Given the description of an element on the screen output the (x, y) to click on. 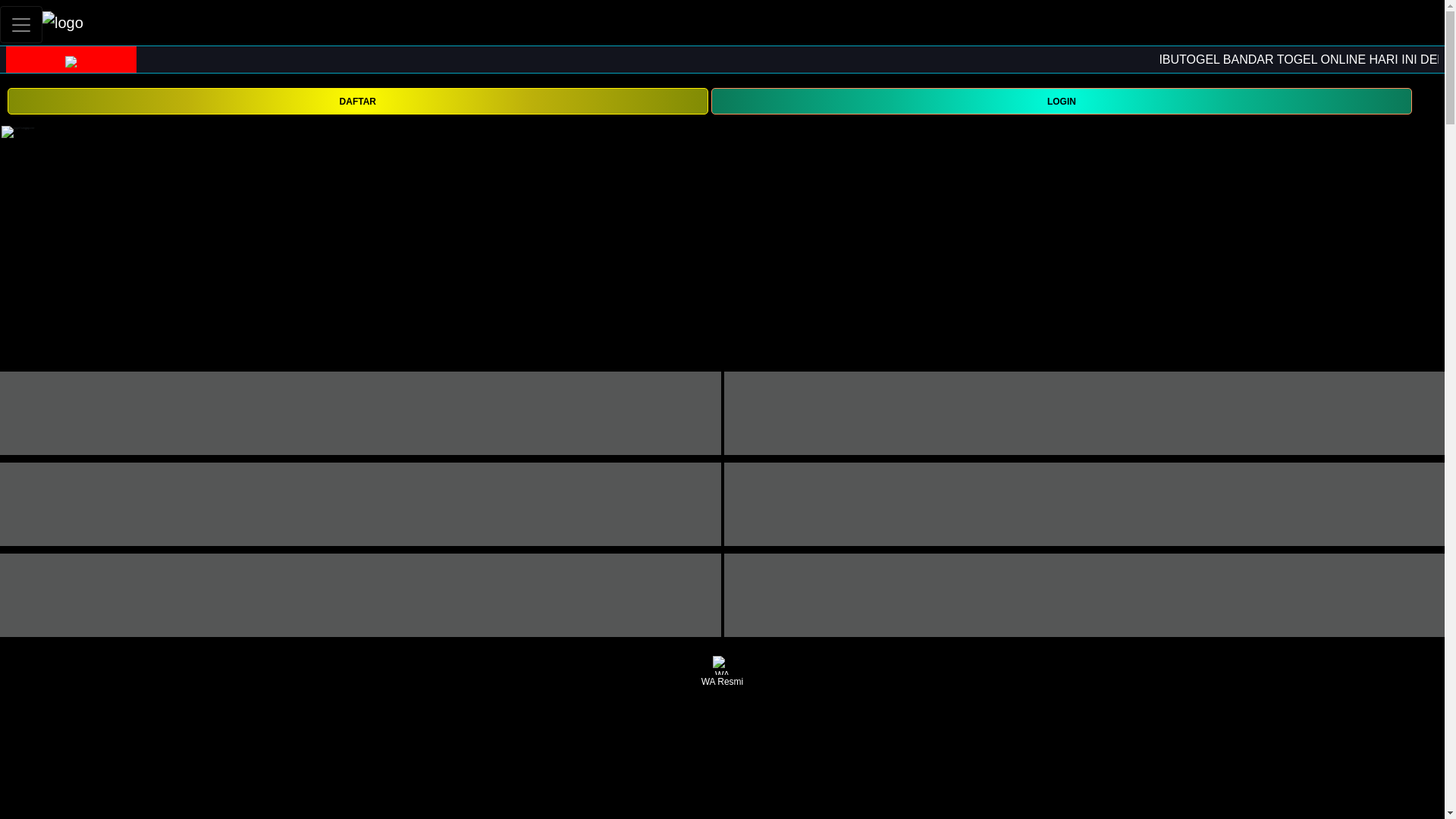
LOGIN (1061, 100)
DAFTAR (357, 100)
DAFTAR (357, 100)
WA Resmi (722, 672)
LOGIN (1061, 100)
